Given the description of an element on the screen output the (x, y) to click on. 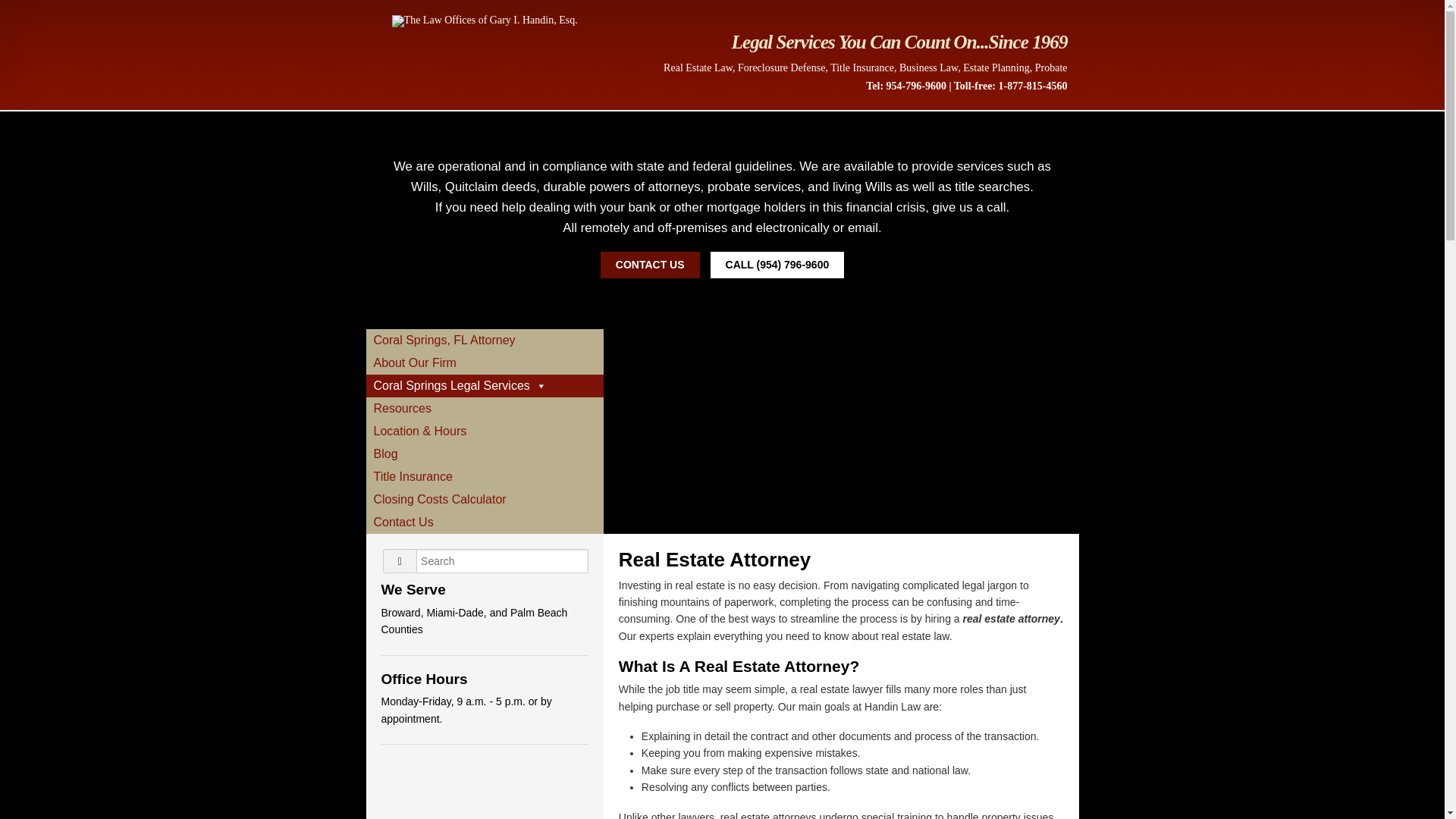
Resources (483, 408)
Toll-free: 1-877-815-4560 (1010, 85)
Coral Springs, FL Attorney (483, 340)
Tel: 954-796-9600 (906, 85)
Contact Us (483, 522)
Coral Springs Legal Services (483, 385)
Blog (483, 454)
The Law Offices of Gary I. Handin, Esq. (484, 19)
Closing Costs Calculator (483, 499)
Title Insurance (483, 477)
About Our Firm (483, 363)
CONTACT US (649, 264)
